Given the description of an element on the screen output the (x, y) to click on. 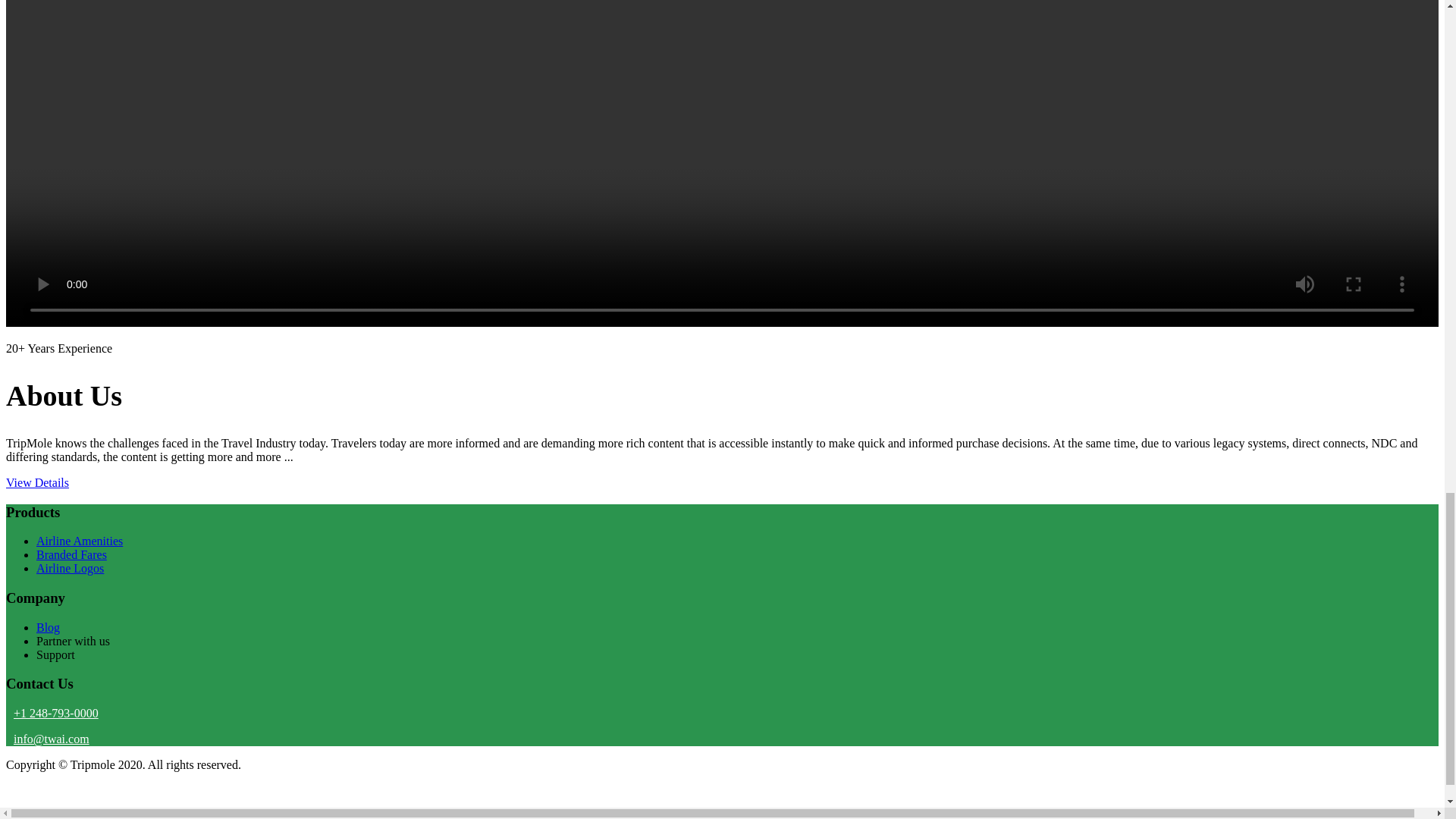
Branded Fares (71, 554)
Partner with us (73, 640)
View Details (36, 481)
Airline Logos (69, 567)
Support (55, 654)
Airline Amenities (79, 540)
Blog (47, 626)
